Given the description of an element on the screen output the (x, y) to click on. 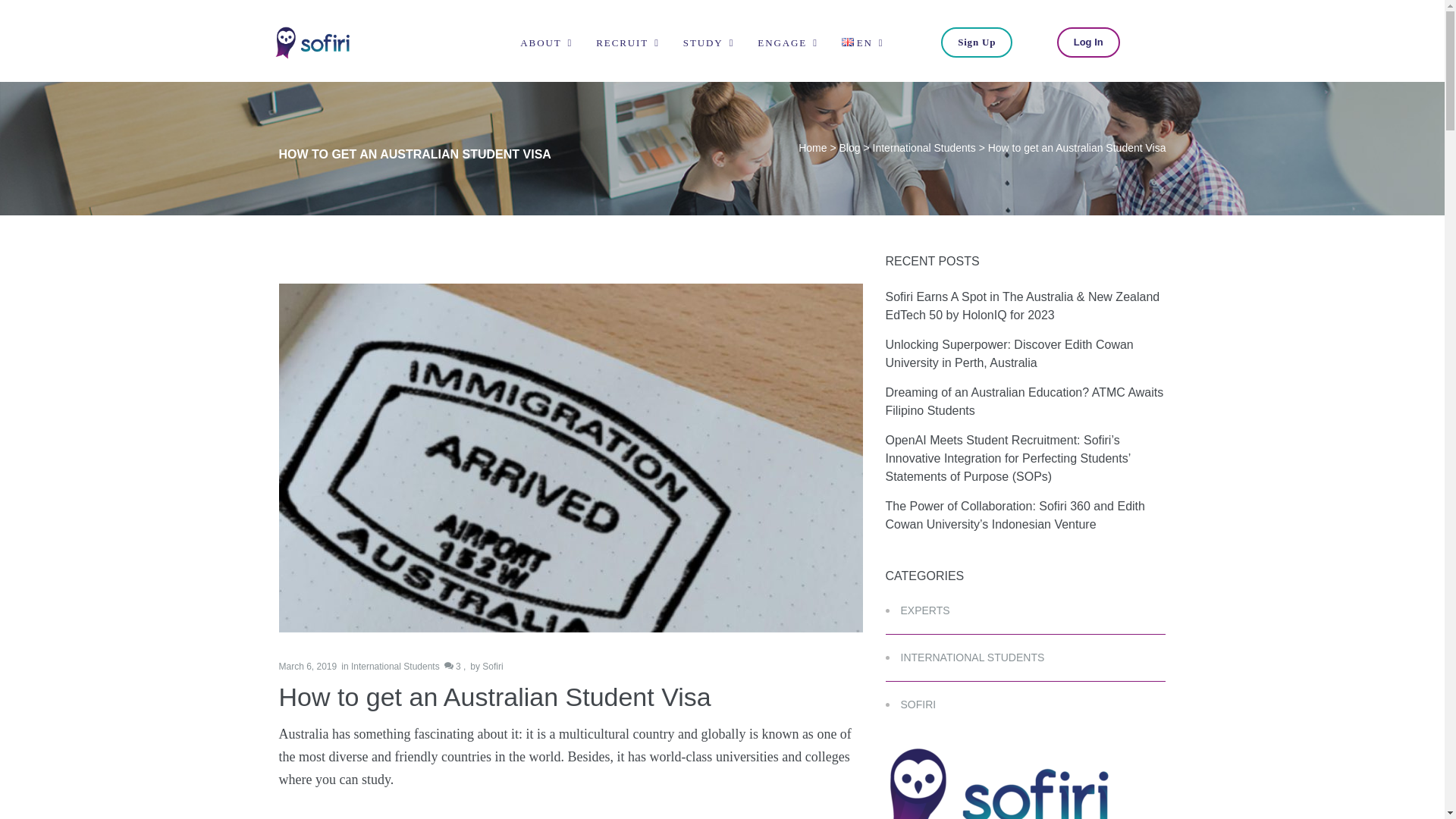
Sign Up (975, 42)
STUDY (709, 42)
EN (863, 42)
International Students (923, 147)
Home (812, 147)
RECRUIT (628, 42)
Blog (850, 147)
Log In (1088, 42)
ABOUT (547, 42)
ENGAGE (789, 42)
